Given the description of an element on the screen output the (x, y) to click on. 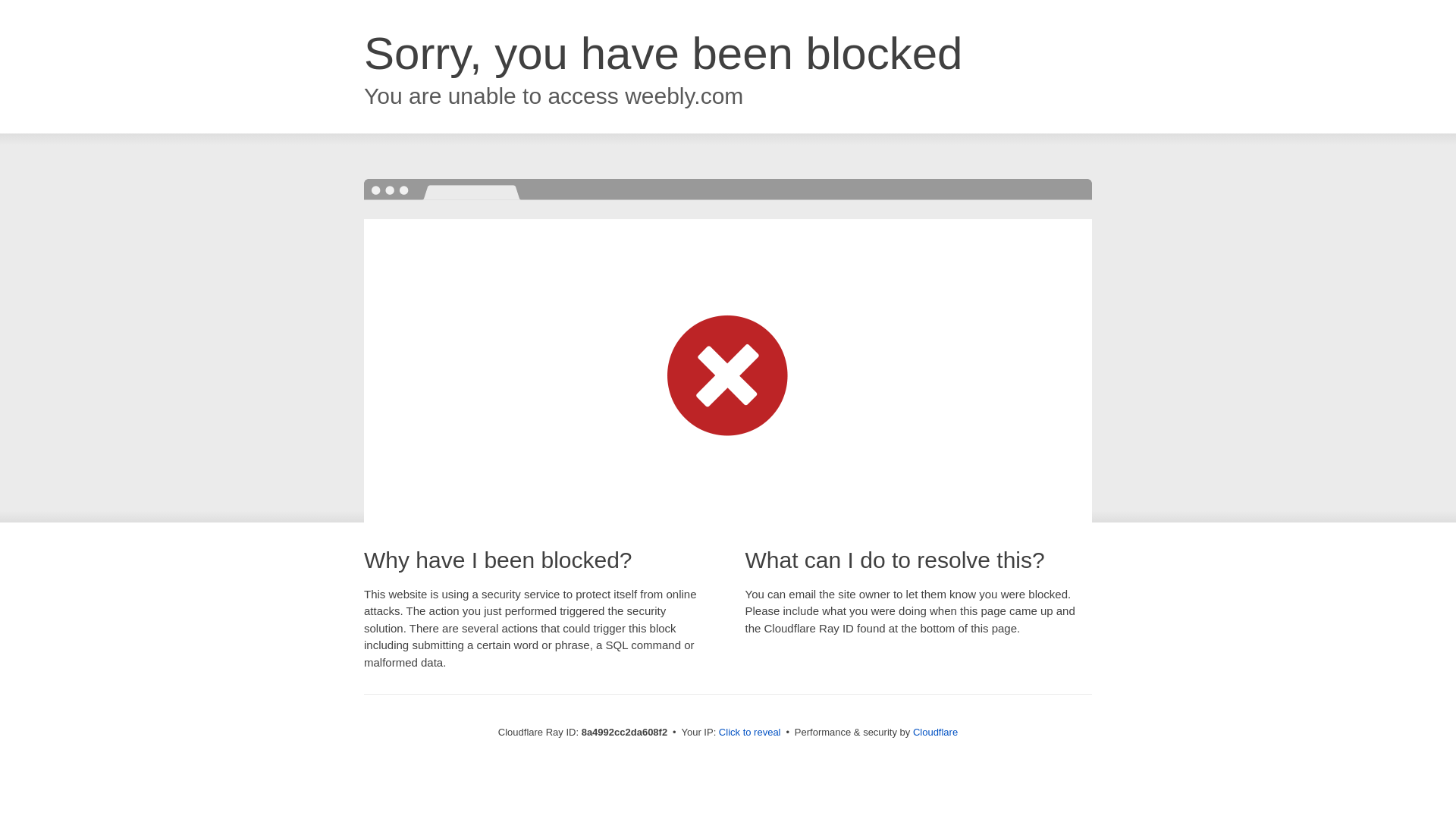
Click to reveal (749, 732)
Cloudflare (935, 731)
